Given the description of an element on the screen output the (x, y) to click on. 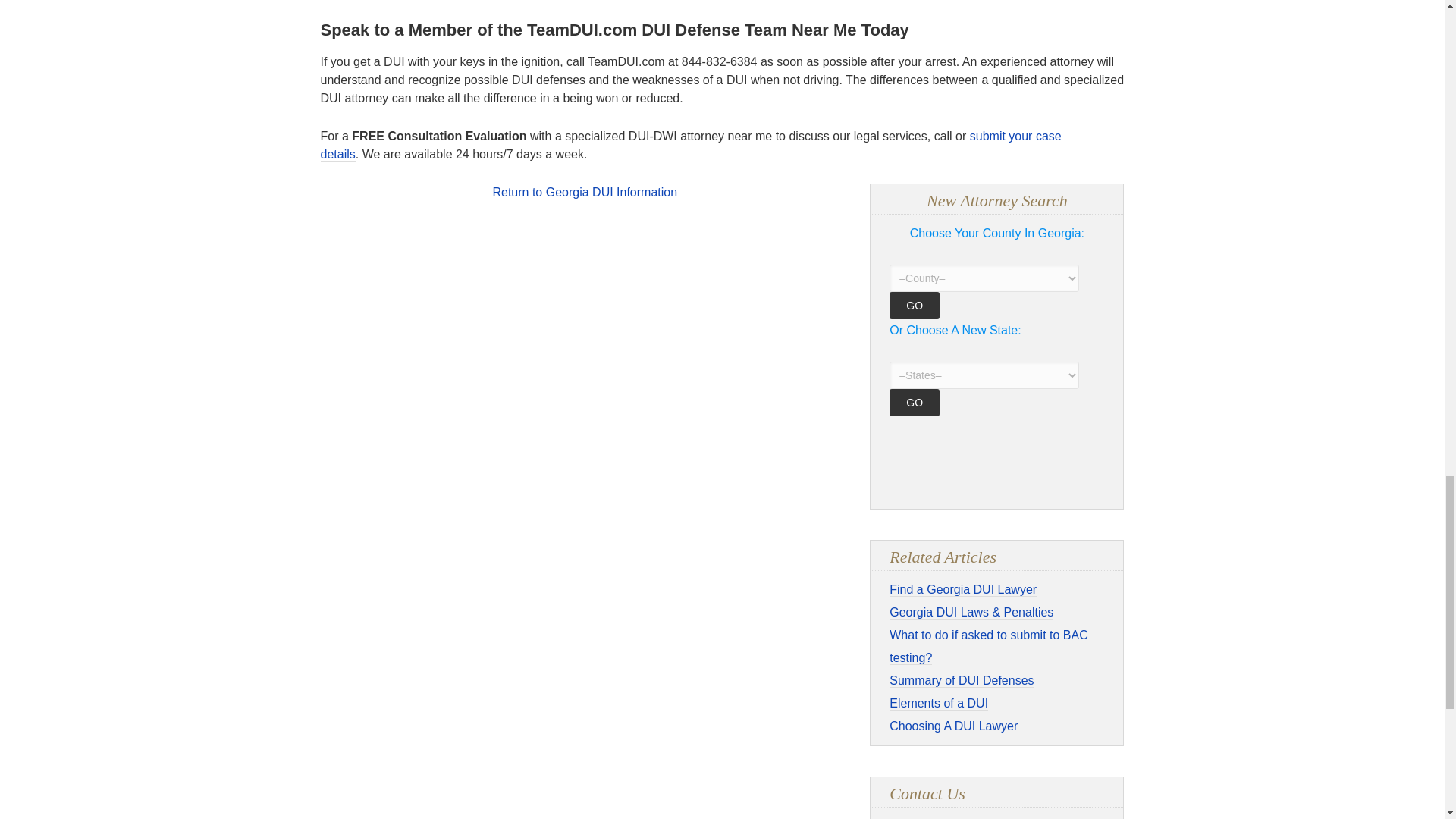
GO (914, 305)
Elements Of A DUI (938, 703)
Find a Georgia DUI Lawyer (962, 590)
GO (914, 402)
Georgia DUI Laws and Penalties (970, 612)
Georgia DUI Information (584, 192)
